Given the description of an element on the screen output the (x, y) to click on. 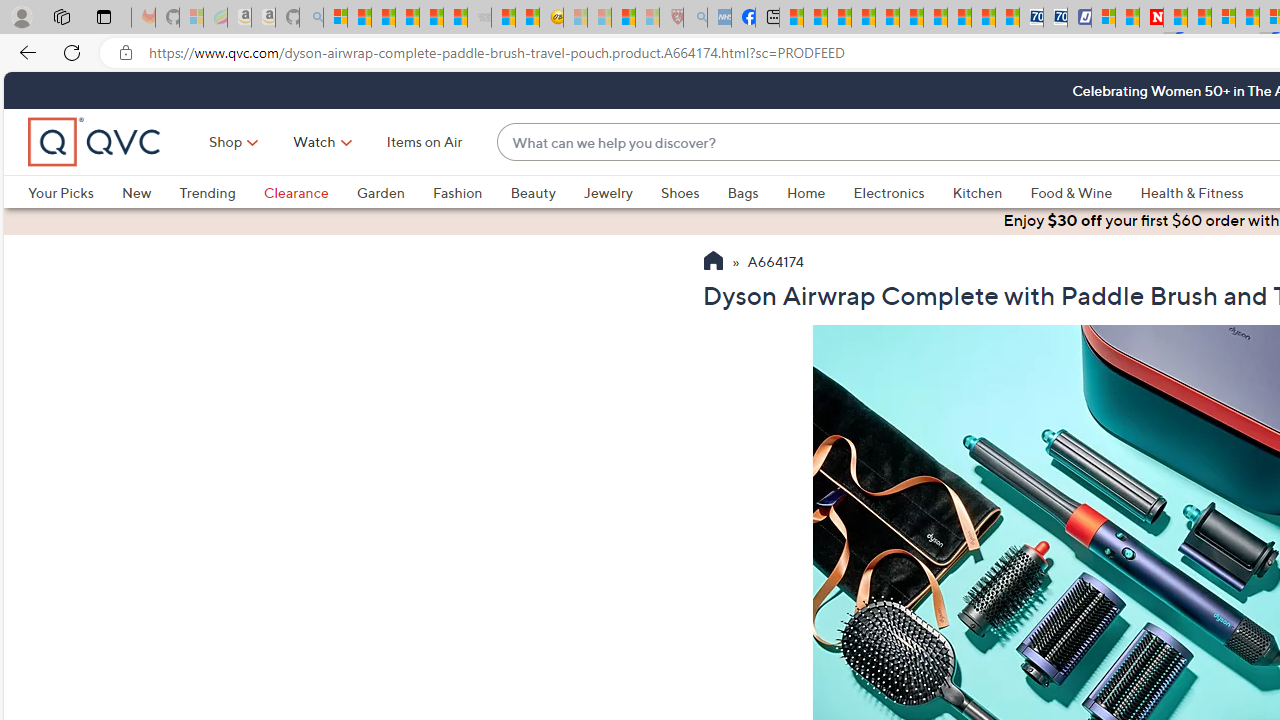
World - MSN (839, 17)
Shoes (680, 192)
Health & Fitness (1192, 192)
Items on Air (424, 141)
NCL Adult Asthma Inhaler Choice Guideline - Sleeping (718, 17)
Combat Siege - Sleeping (479, 17)
Jewelry (607, 192)
QVC home (95, 141)
A664174 (776, 263)
Shoes (694, 192)
Bags (757, 192)
